Given the description of an element on the screen output the (x, y) to click on. 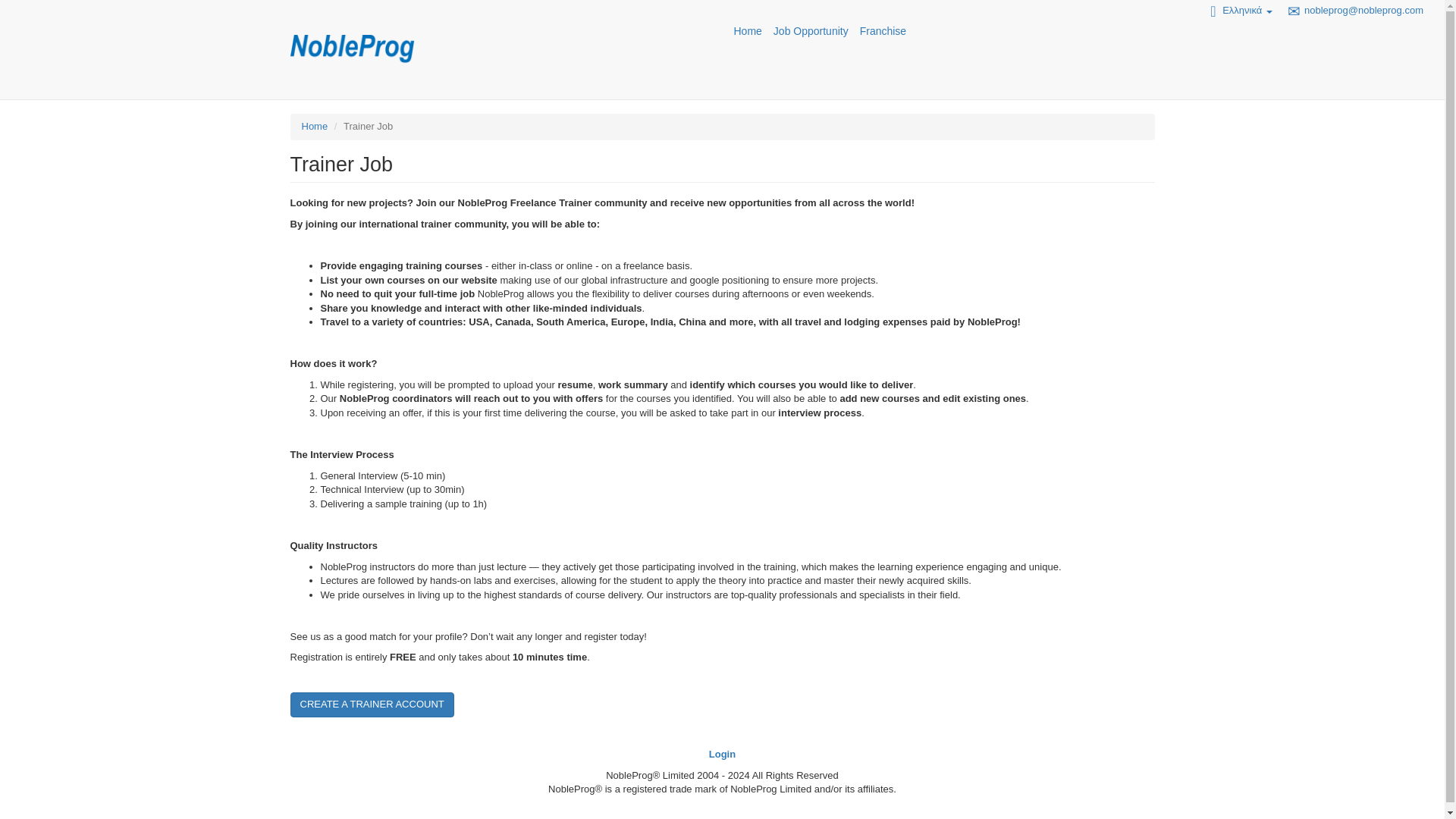
Job Opportunity (810, 30)
Home (315, 125)
Home (747, 30)
CREATE A TRAINER ACCOUNT (370, 704)
Login (722, 754)
Franchise (882, 30)
Home (351, 49)
CREATE A TRAINER ACCOUNT (370, 704)
